Given the description of an element on the screen output the (x, y) to click on. 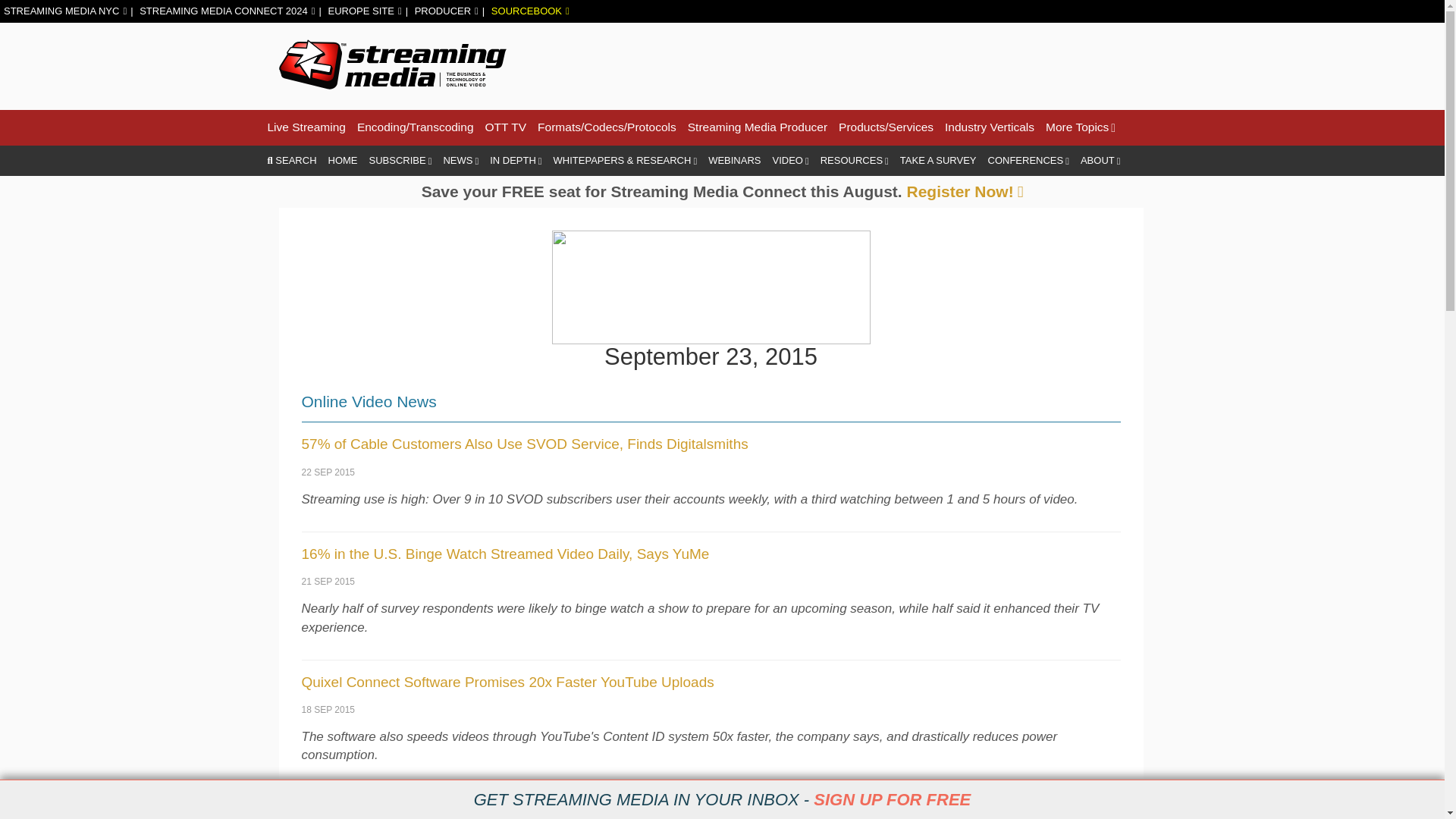
OTT TV (505, 127)
Live Streaming (305, 127)
SUBSCRIBE (400, 160)
STREAMING MEDIA CONNECT 2024 (226, 10)
EUROPE SITE (364, 10)
3rd party ad content (890, 64)
PRODUCER (446, 10)
STREAMING MEDIA NYC (65, 10)
OTT TV (505, 127)
GET STREAMING MEDIA IN YOUR INBOX - SIGN UP FOR FREE (722, 799)
NEWS (460, 160)
Streaming Media Producer (757, 127)
Live Streaming (305, 127)
HOME (343, 160)
Industry Verticals (988, 127)
